Given the description of an element on the screen output the (x, y) to click on. 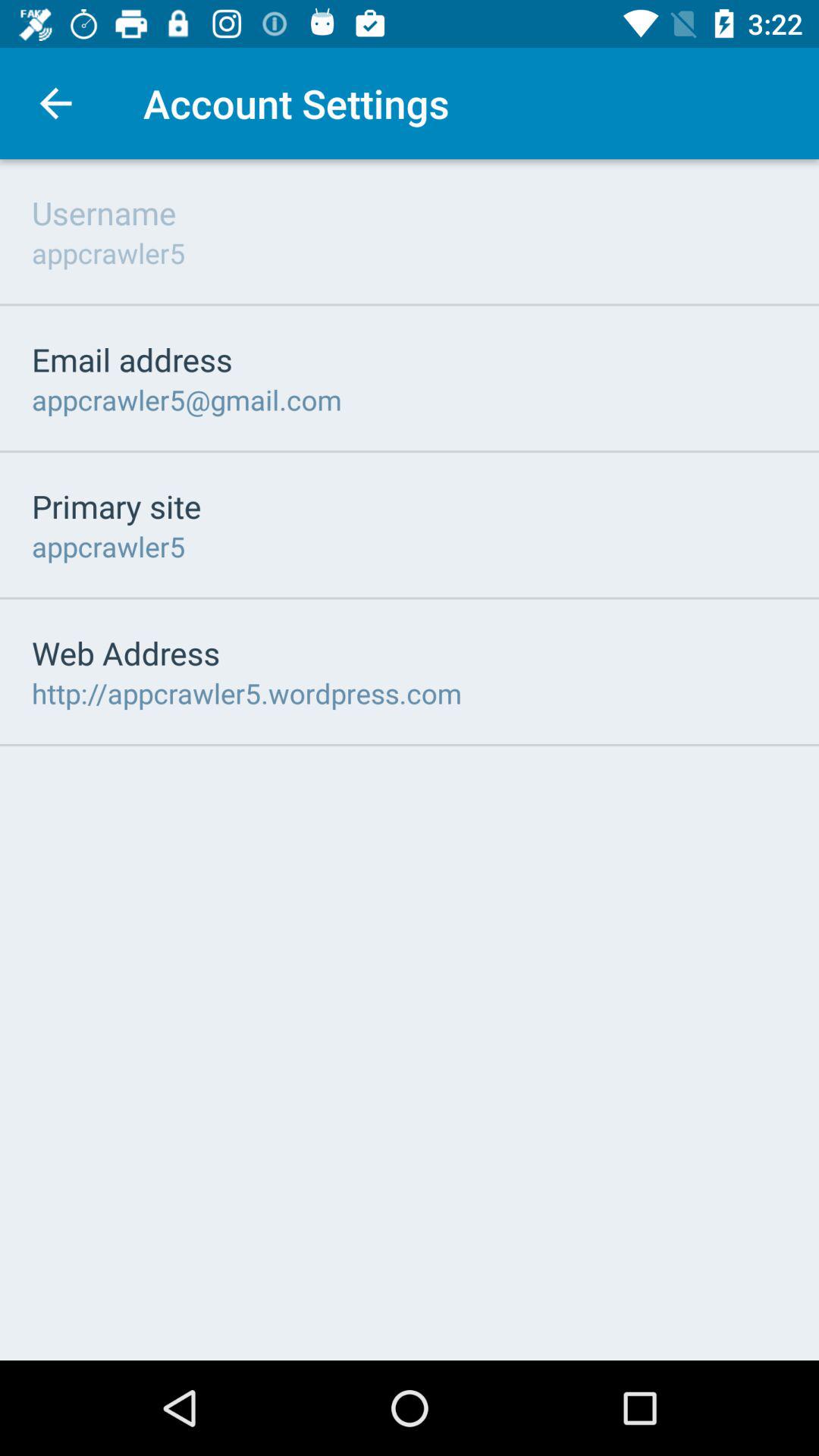
turn on email address icon (131, 359)
